Given the description of an element on the screen output the (x, y) to click on. 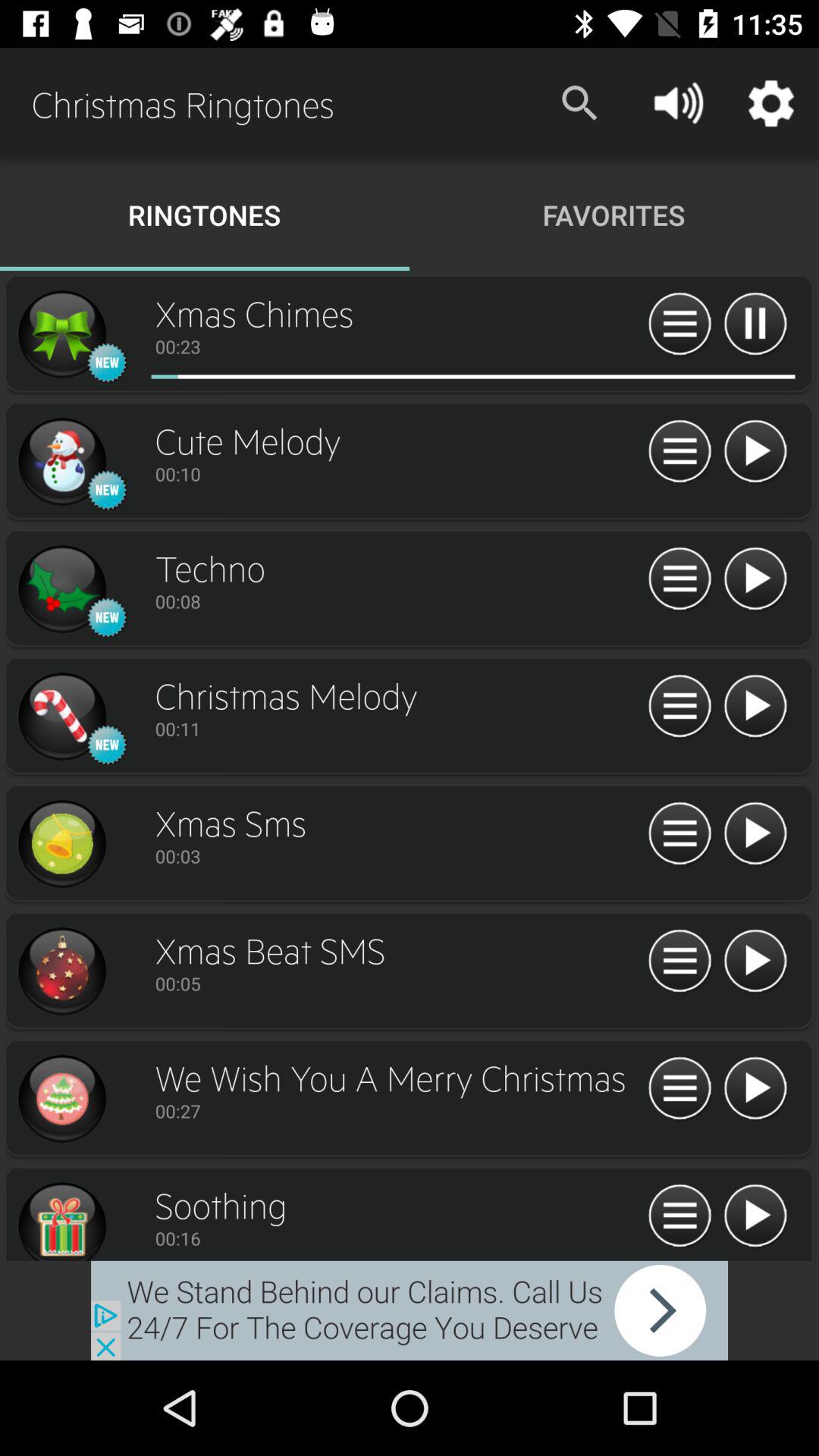
see details (679, 706)
